Given the description of an element on the screen output the (x, y) to click on. 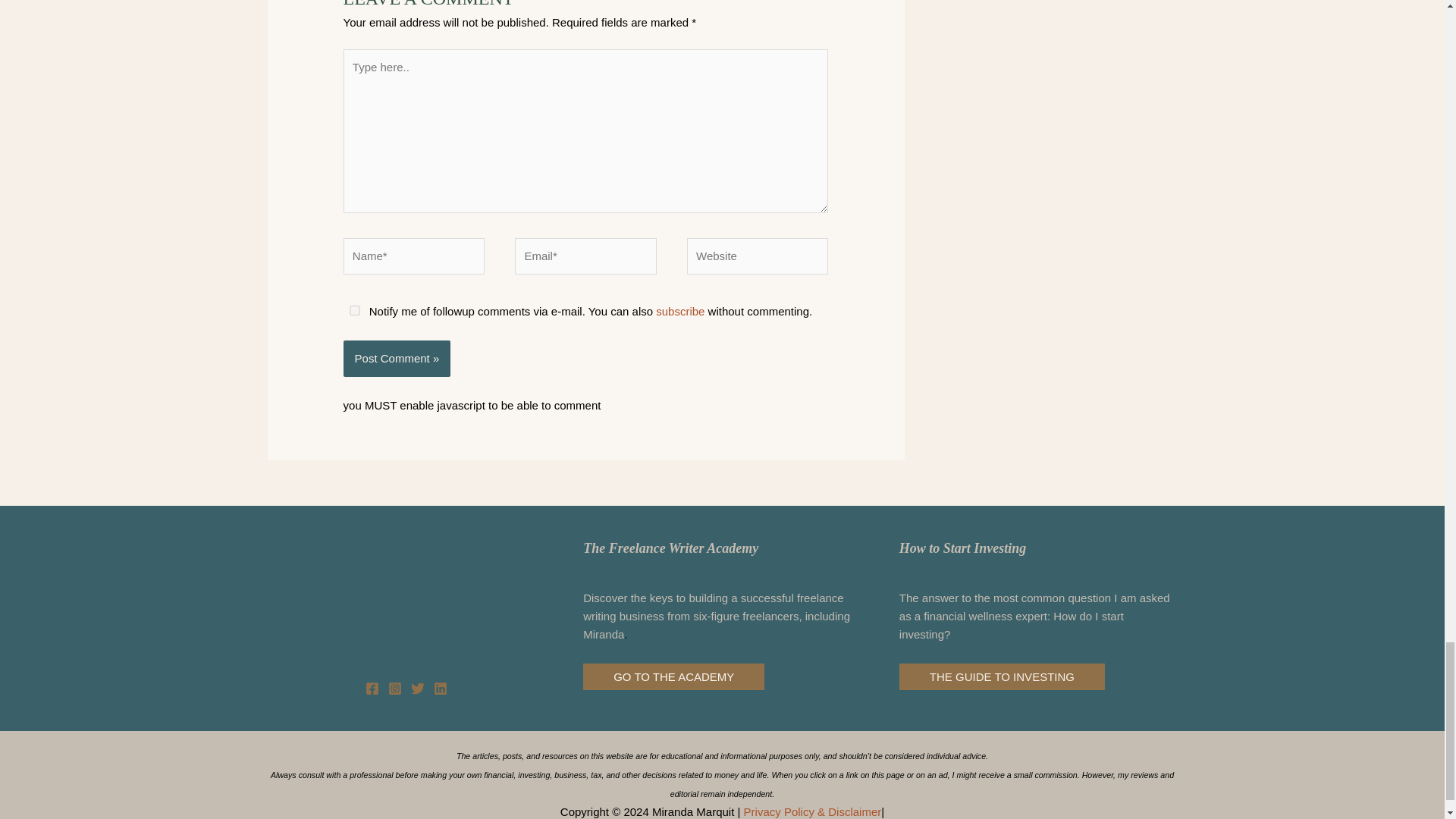
yes (354, 310)
